Given the description of an element on the screen output the (x, y) to click on. 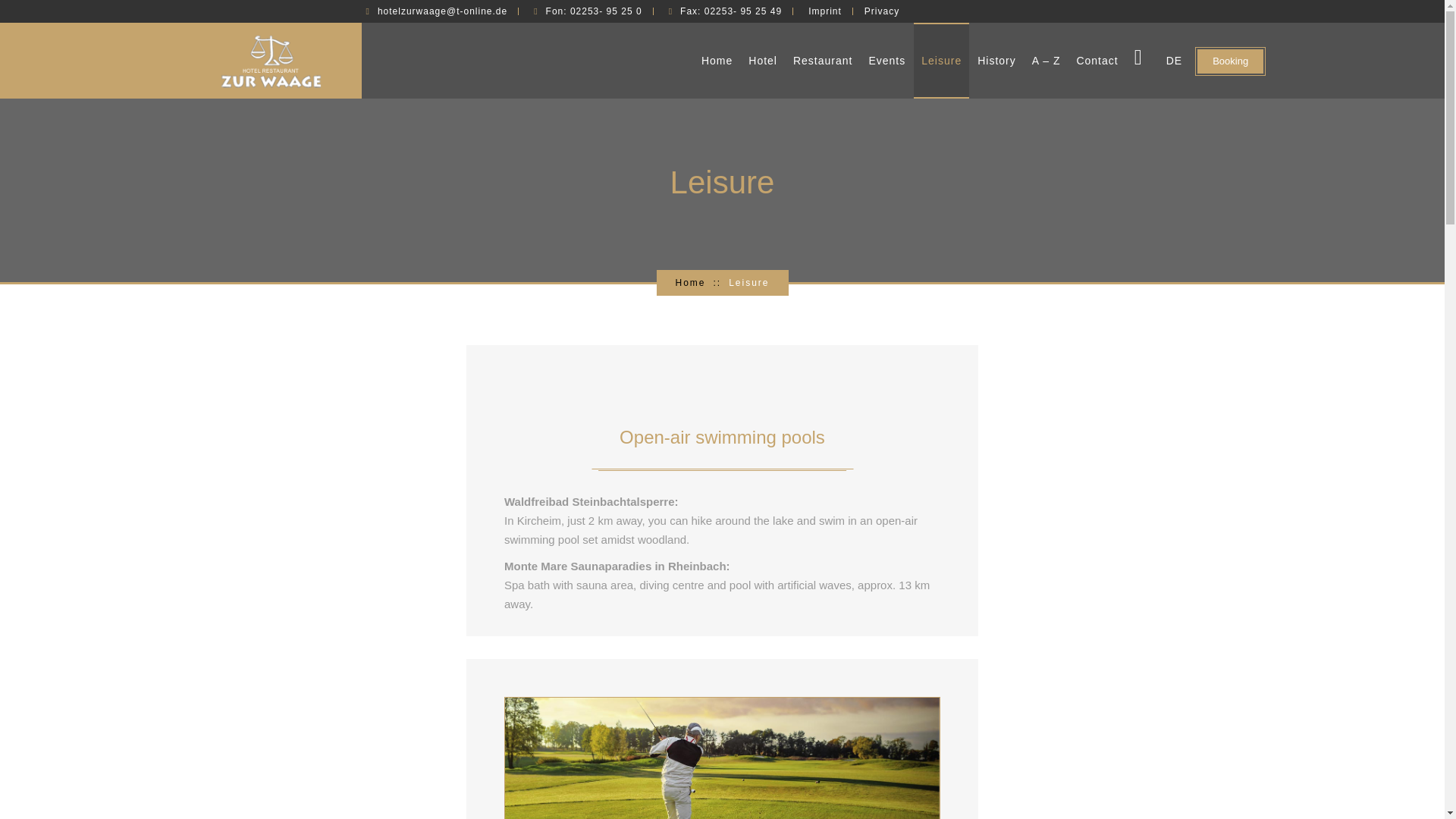
Privacy (881, 10)
Booking (1229, 61)
Home (689, 282)
Restaurant (823, 60)
Imprint (824, 10)
